Given the description of an element on the screen output the (x, y) to click on. 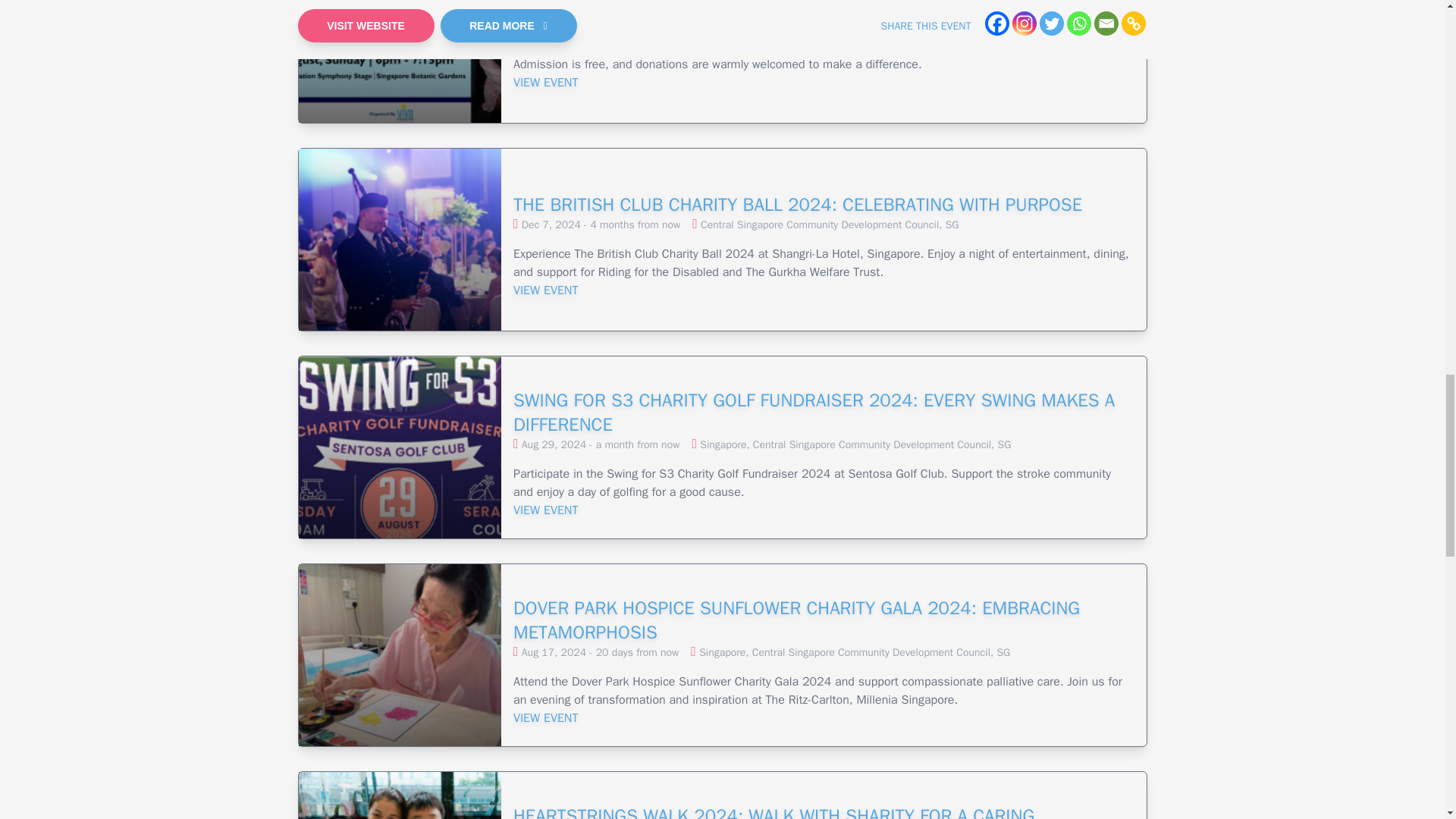
VIEW EVENT (823, 82)
VIEW EVENT (823, 510)
VIVA FIESTA 2024: DREAMS OF TOMORROW CONCERT FOR A CAUSE (823, 4)
Aug 17, 2024 7:15pm China Standard Time (600, 652)
Dec 7, 2024 7:15pm China Standard Time (601, 224)
VIEW EVENT (823, 718)
VIEW EVENT (823, 290)
Aug 29, 2024 11:45am China Standard Time (600, 444)
Aug 4, 2024 12:15am China Standard Time (593, 16)
THE BRITISH CLUB CHARITY BALL 2024: CELEBRATING WITH PURPOSE (823, 192)
